Given the description of an element on the screen output the (x, y) to click on. 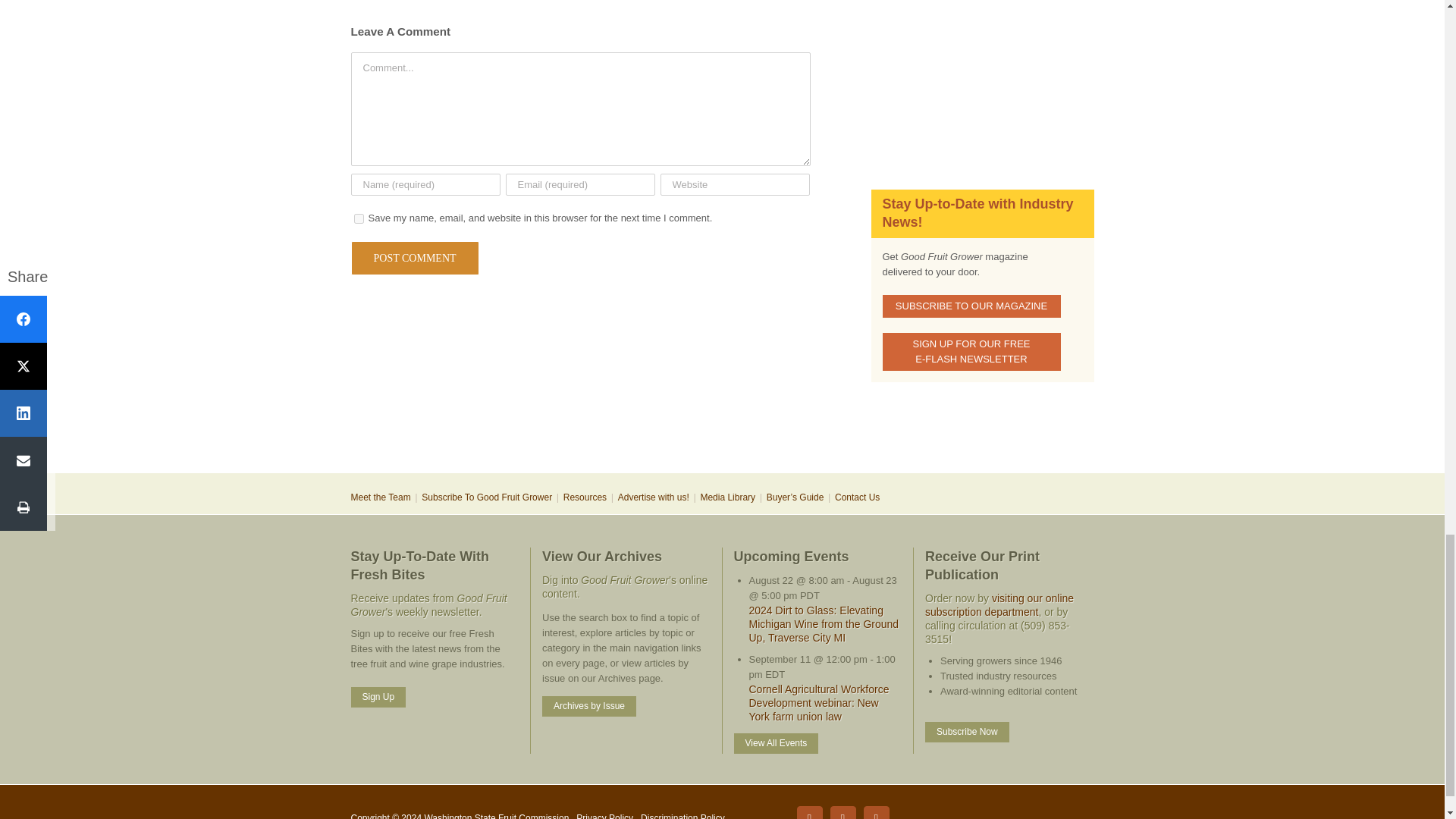
Post Comment (414, 257)
LinkedIn (842, 812)
yes (357, 218)
Facebook (809, 812)
YouTube (875, 812)
